Given the description of an element on the screen output the (x, y) to click on. 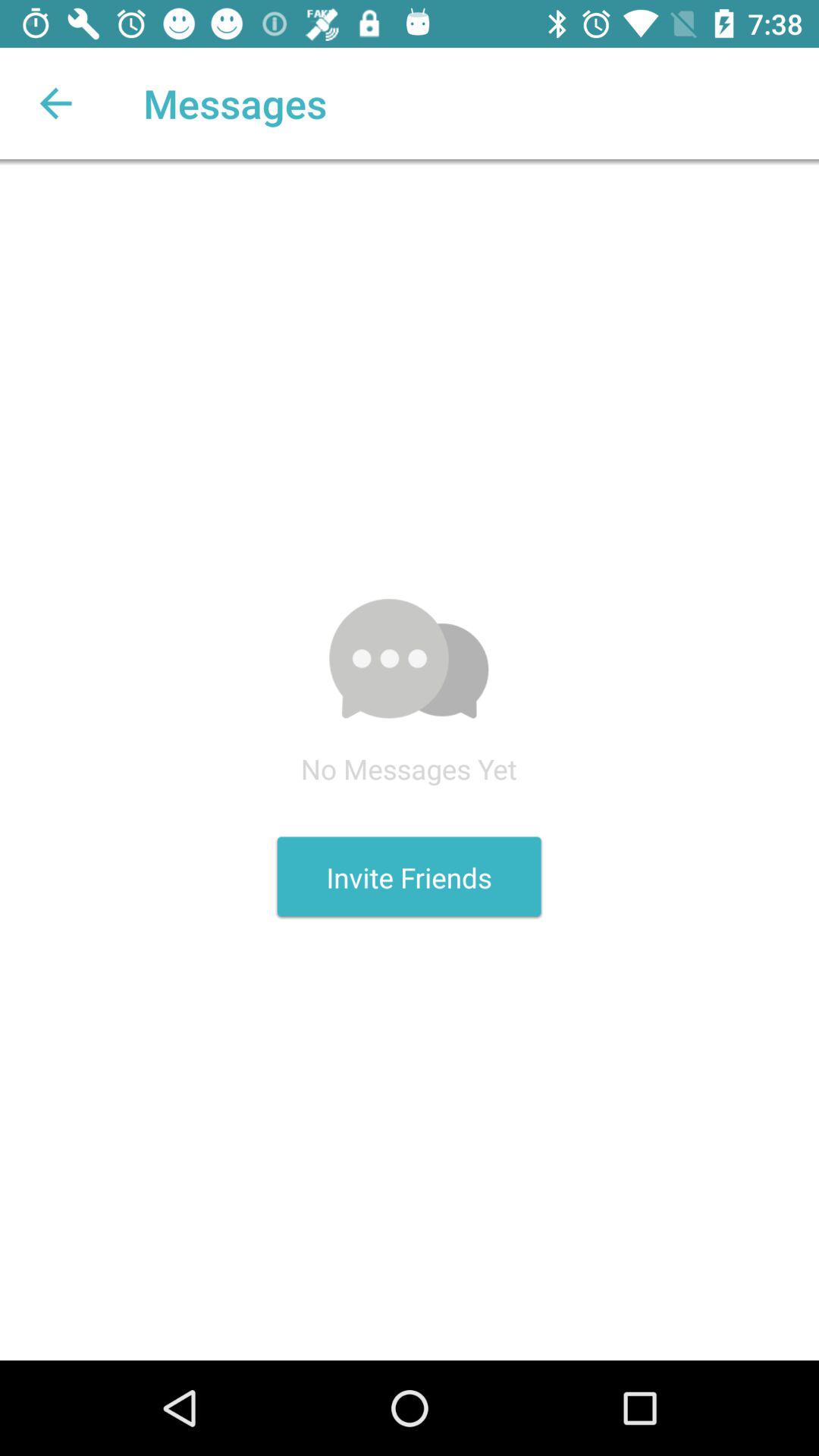
turn off the icon next to the messages item (55, 103)
